Given the description of an element on the screen output the (x, y) to click on. 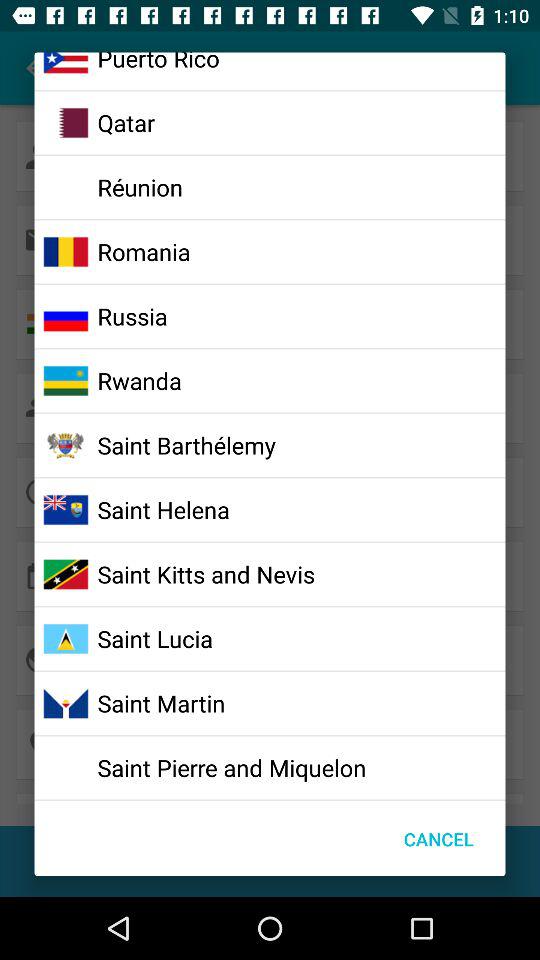
flip to the saint helena (163, 509)
